Given the description of an element on the screen output the (x, y) to click on. 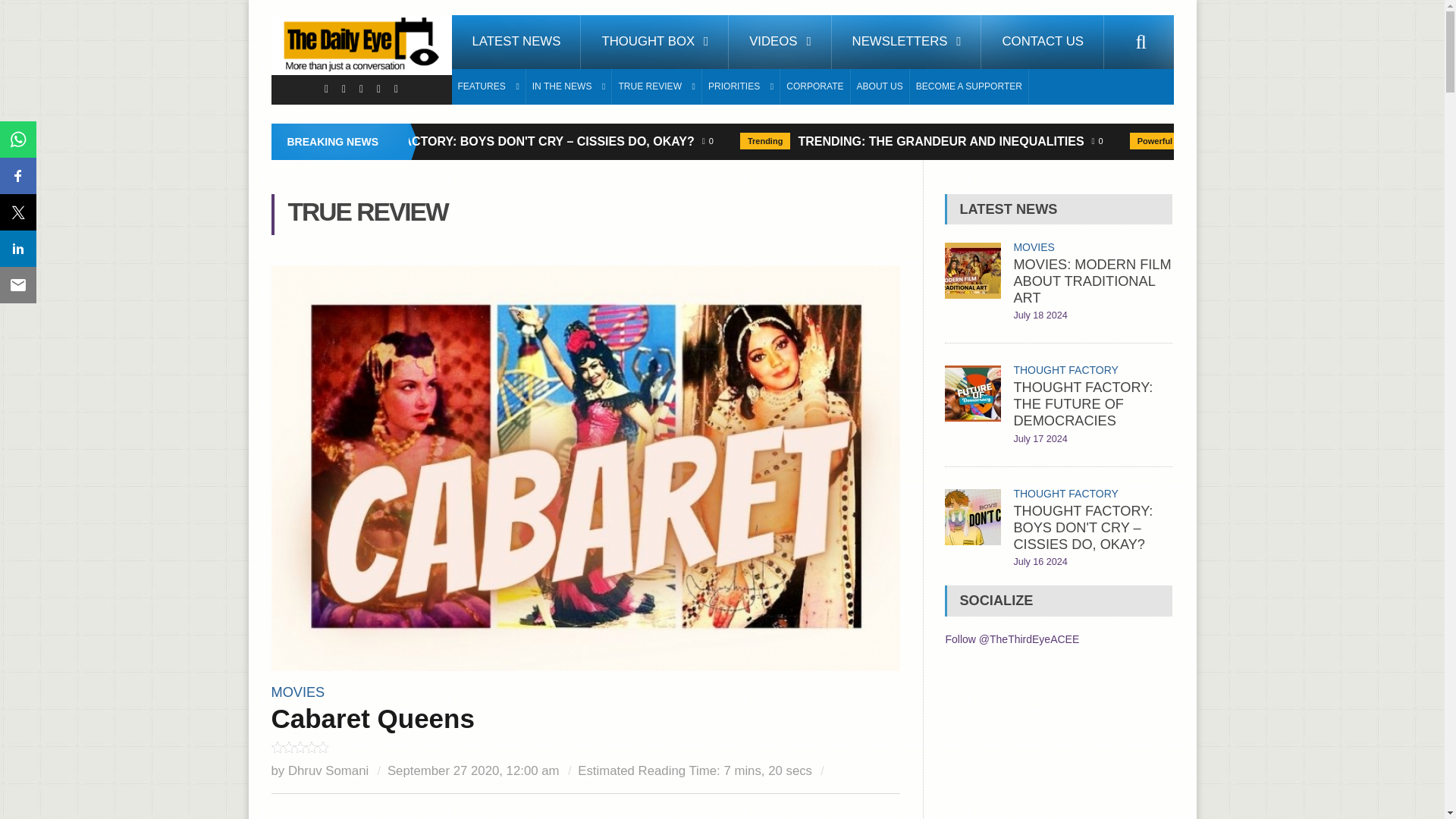
search (1140, 42)
LATEST NEWS (515, 41)
NEWSLETTERS (906, 41)
Advertisement (584, 814)
VIDEOS (780, 41)
THOUGHT BOX (654, 41)
Advertisement (1058, 744)
